Given the description of an element on the screen output the (x, y) to click on. 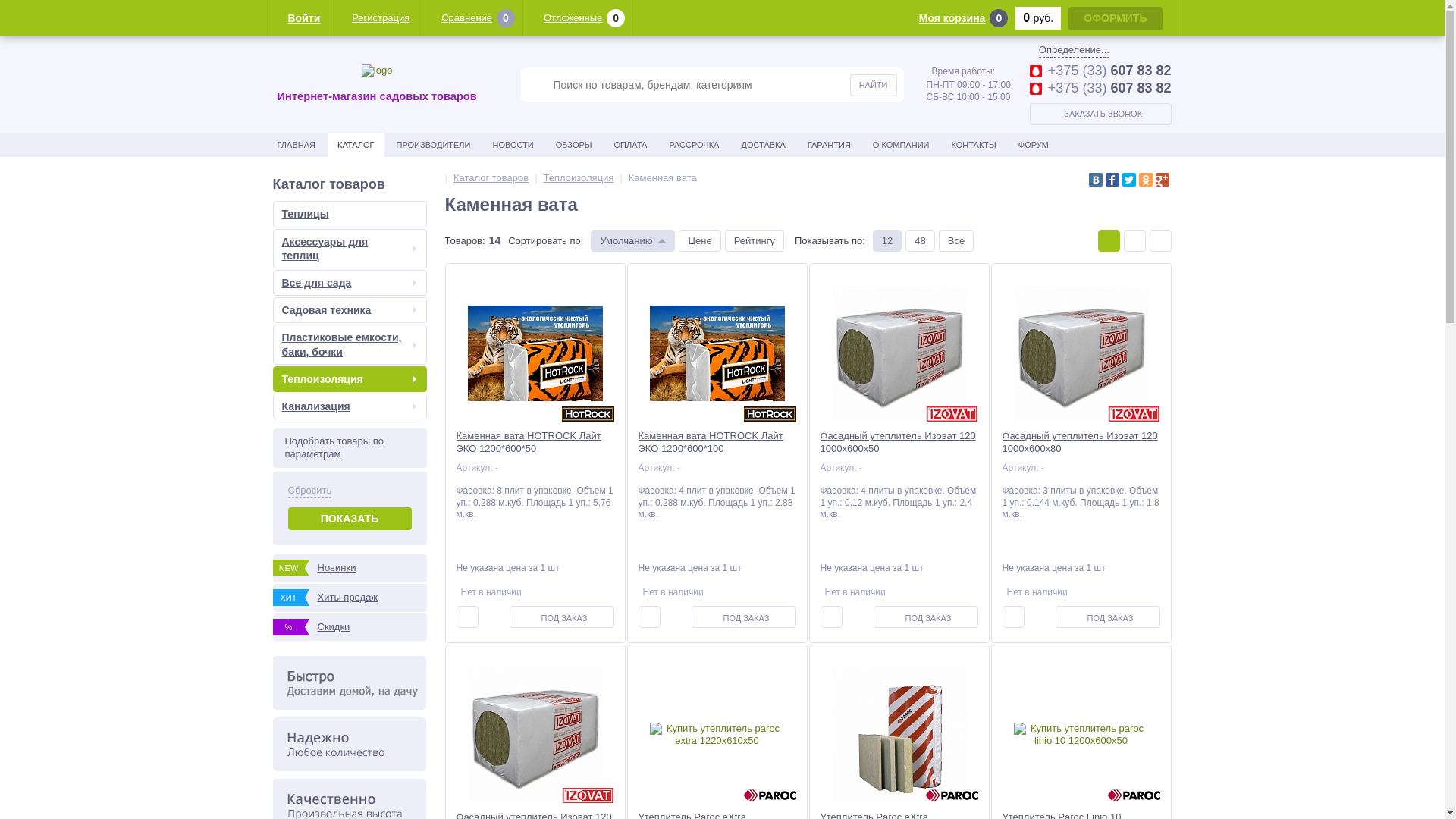
HotRock Element type: hover (587, 413)
Isovat Element type: hover (1133, 413)
Twitter Element type: hover (1128, 179)
Paroc Element type: hover (951, 795)
Isovat Element type: hover (587, 795)
Google Plus Element type: hover (1162, 179)
12 Element type: text (886, 240)
Facebook Element type: hover (1112, 179)
HotRock Element type: hover (769, 413)
Paroc Element type: hover (1133, 795)
Paroc Element type: hover (769, 795)
Isovat Element type: hover (951, 413)
48 Element type: text (919, 240)
